Given the description of an element on the screen output the (x, y) to click on. 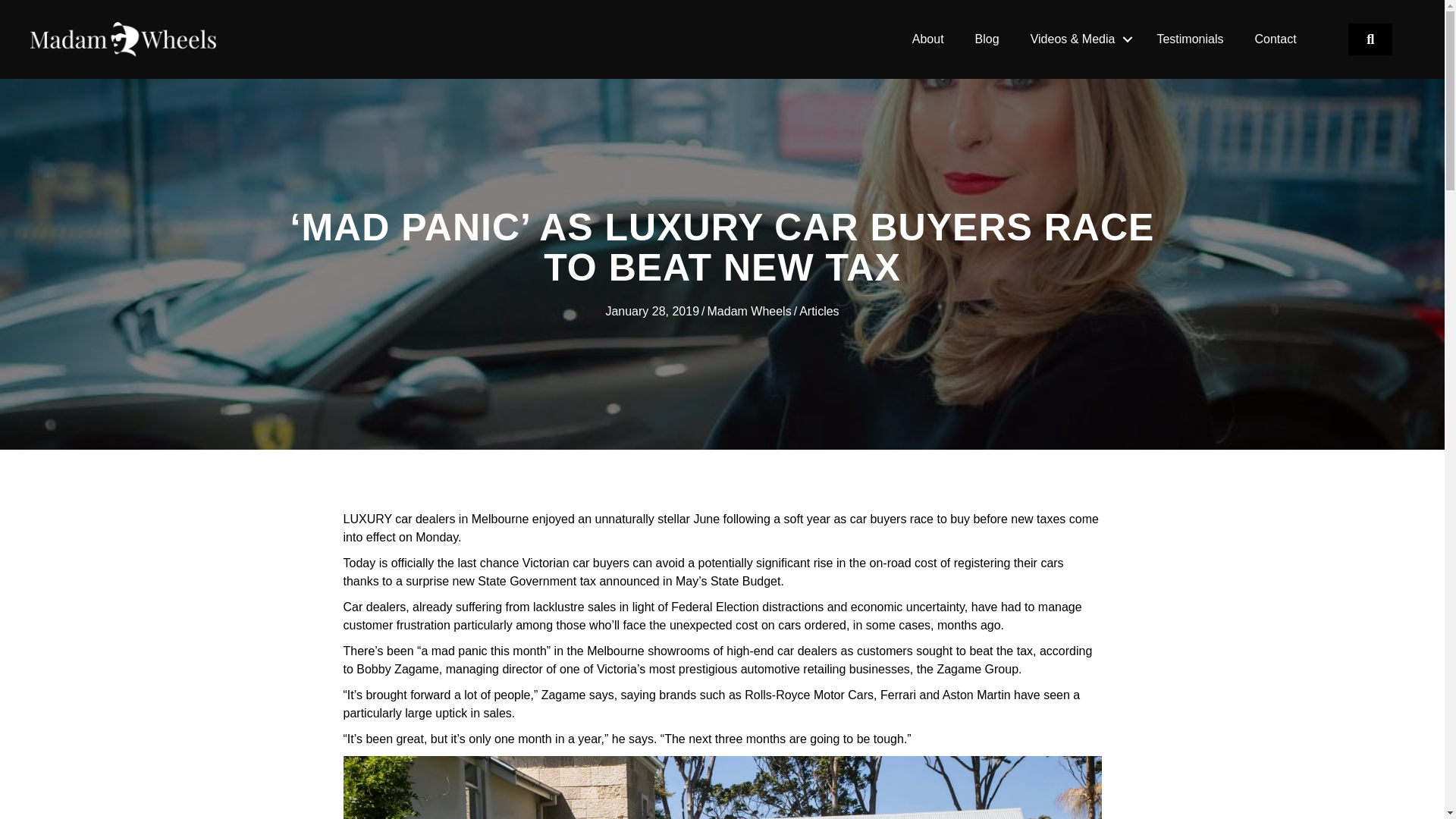
Madam Wheels (749, 310)
Testimonials (1190, 39)
Mw Logo Header (122, 39)
Articles (818, 310)
About (927, 39)
Contact (1275, 39)
Blog (986, 39)
